Given the description of an element on the screen output the (x, y) to click on. 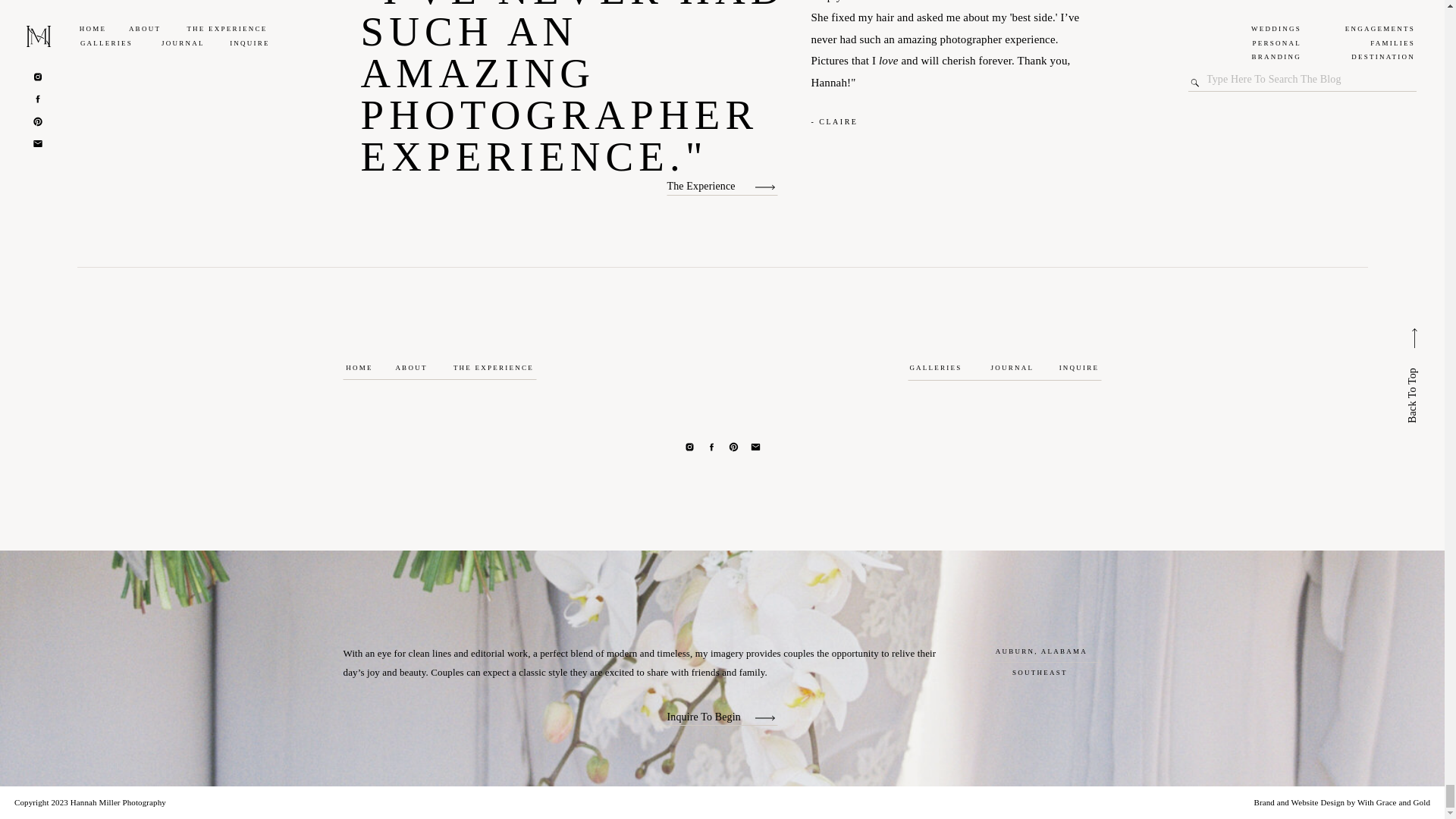
The Experience (710, 185)
